Given the description of an element on the screen output the (x, y) to click on. 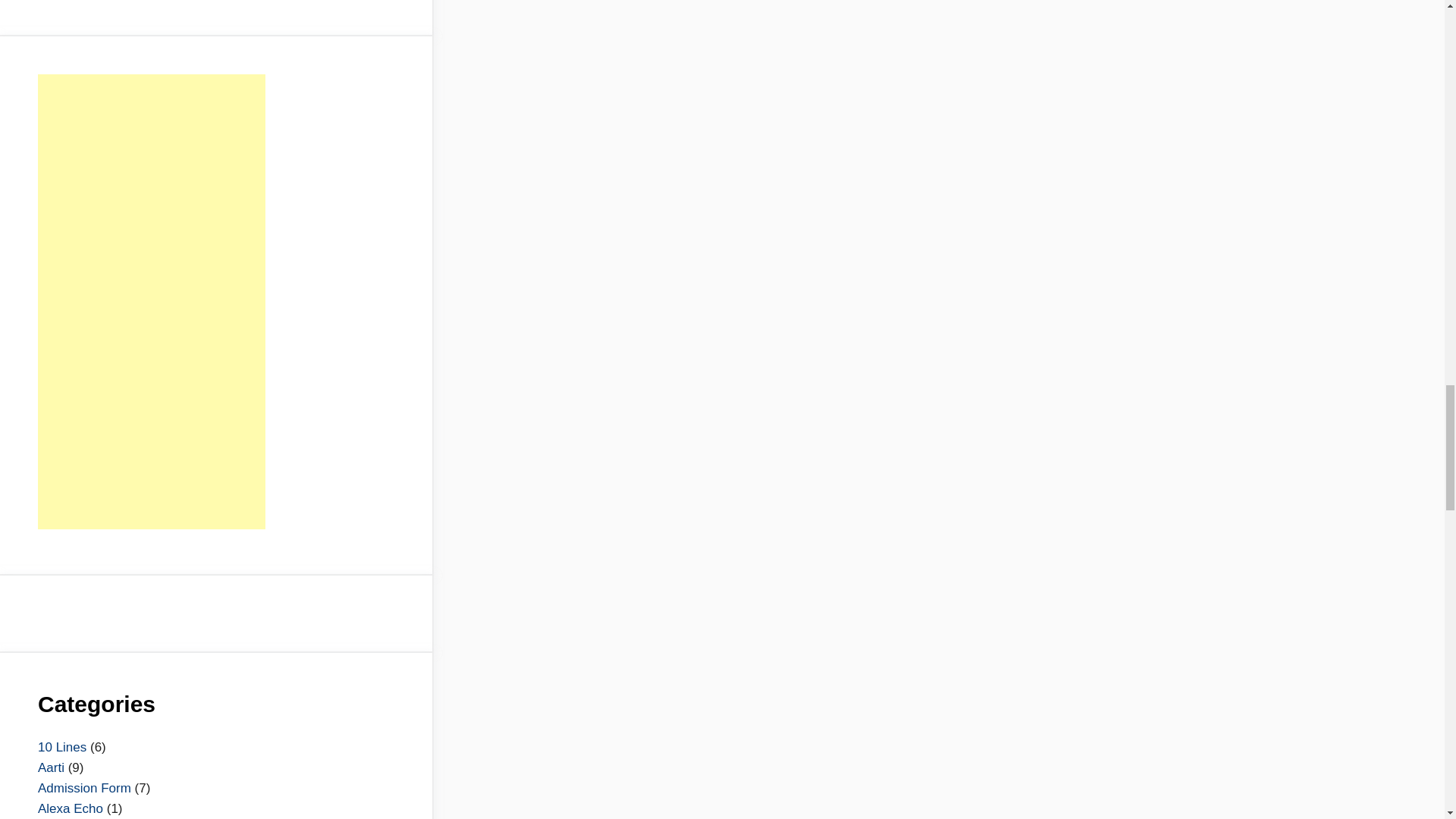
Alexa Echo (70, 808)
Aarti (50, 767)
Admission Form (84, 788)
10 Lines (61, 747)
